Given the description of an element on the screen output the (x, y) to click on. 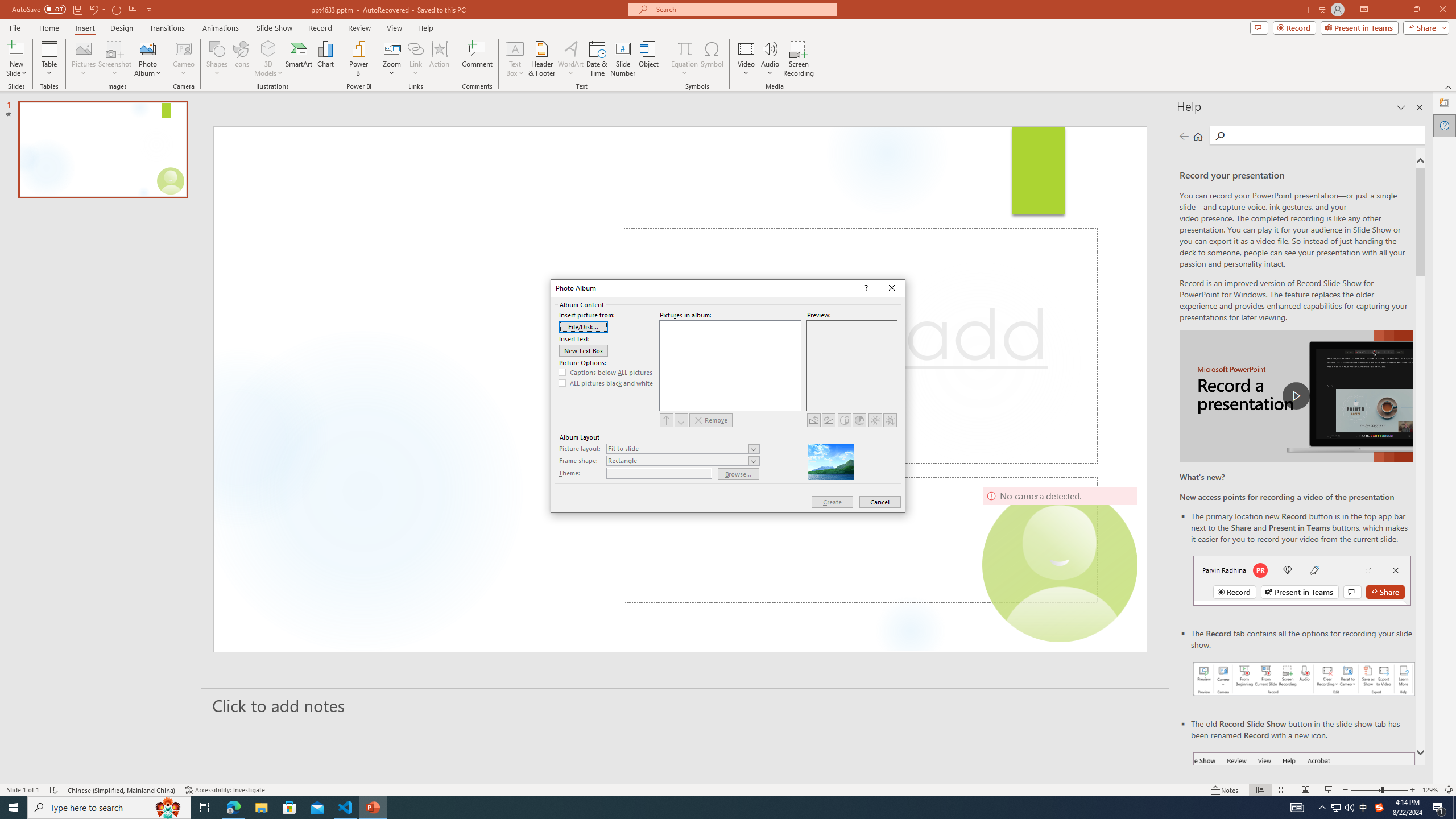
Frame shape (1335, 807)
Running applications (682, 460)
Tray Input Indicator - Chinese (Simplified, China) (707, 807)
SmartArt... (1378, 807)
Cameo (298, 58)
Cameo (183, 48)
Record your presentations screenshot one (183, 58)
